Given the description of an element on the screen output the (x, y) to click on. 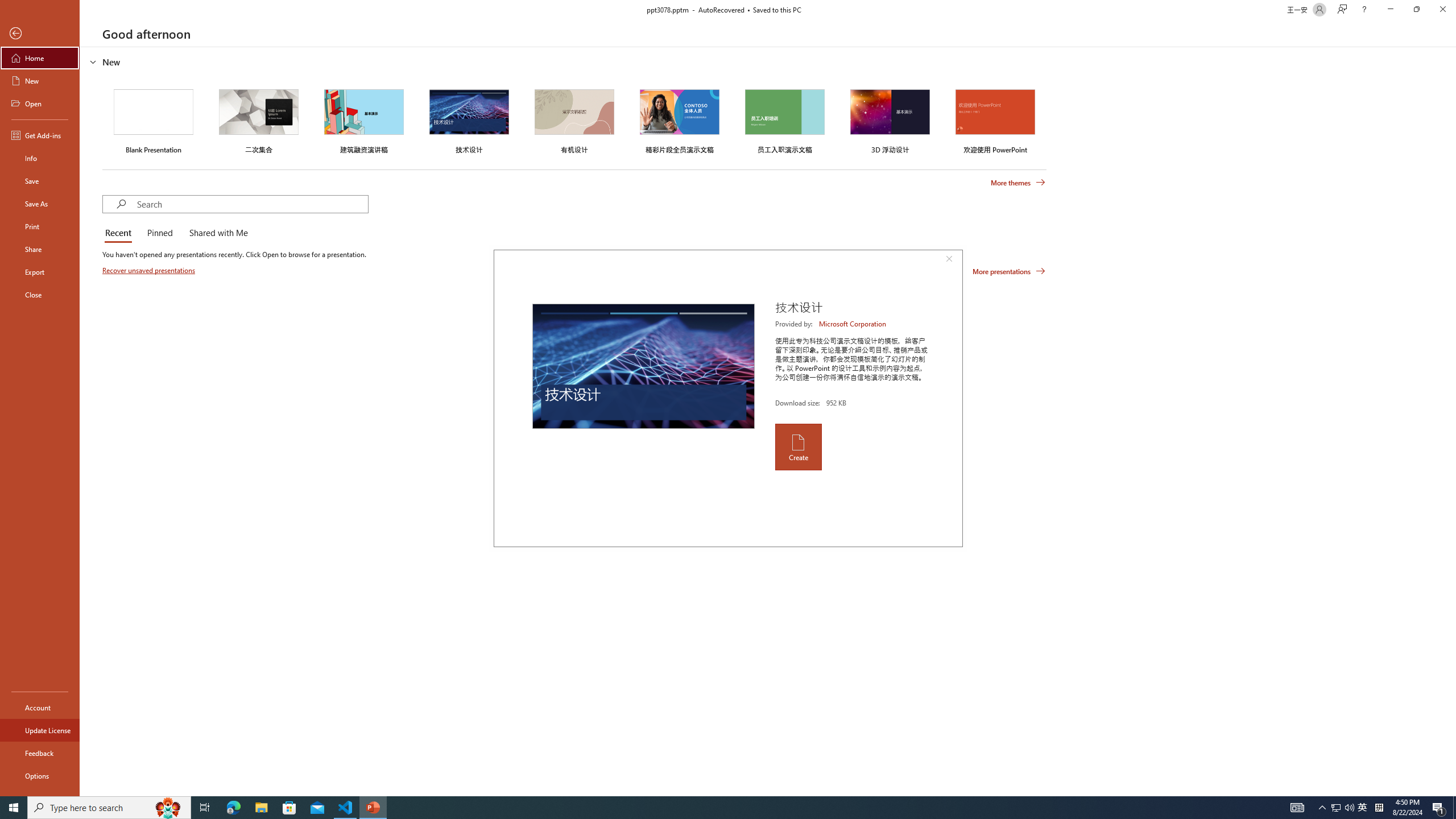
Pinned (159, 233)
Create (797, 446)
Class: NetUIScrollBar (1450, 421)
Shared with Me (215, 233)
Hide or show region (92, 61)
More themes (1018, 182)
Recent (119, 233)
Options (40, 775)
Info (40, 157)
More presentations (1008, 270)
